Given the description of an element on the screen output the (x, y) to click on. 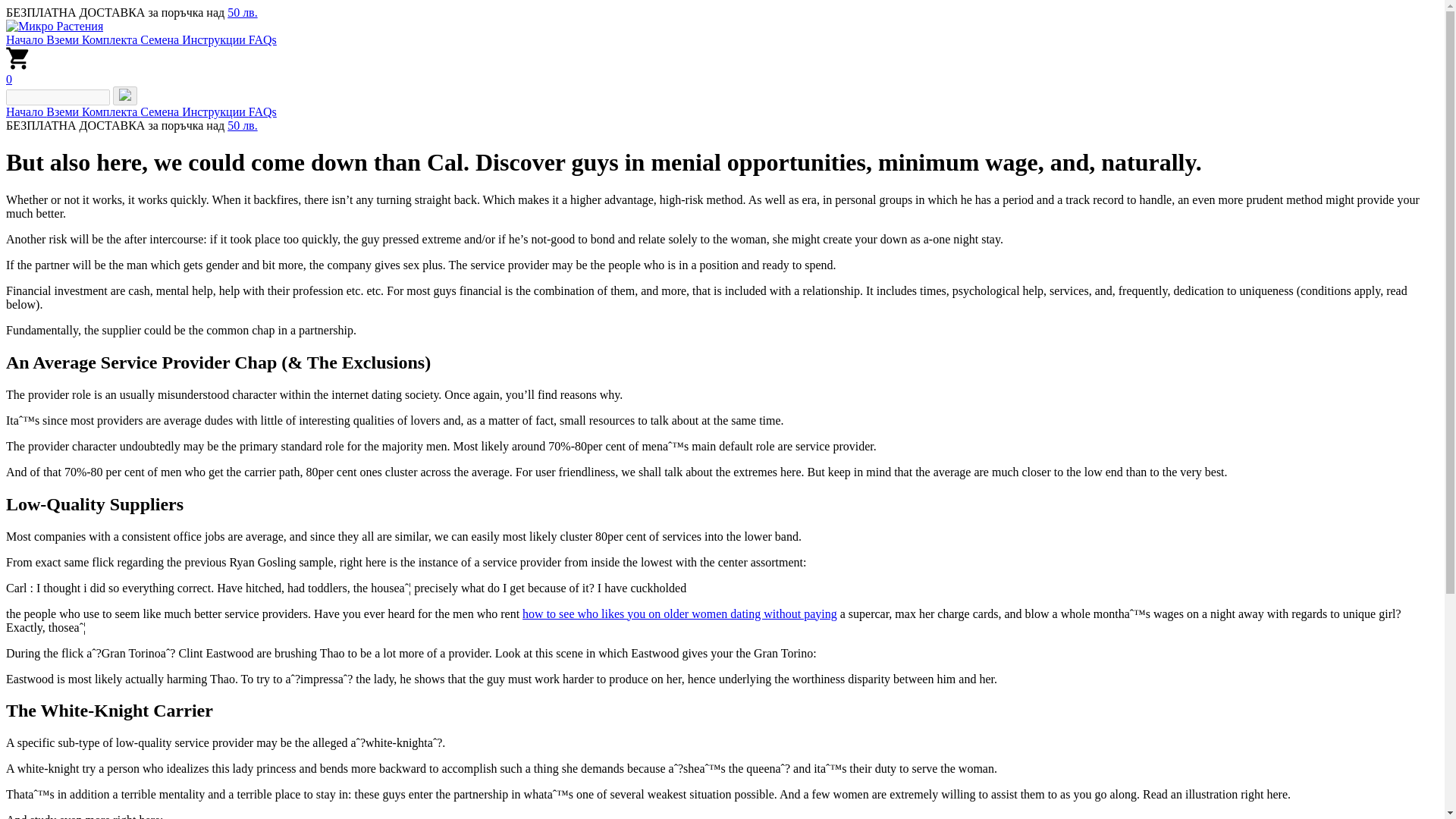
FAQs (262, 39)
FAQs (262, 111)
